Given the description of an element on the screen output the (x, y) to click on. 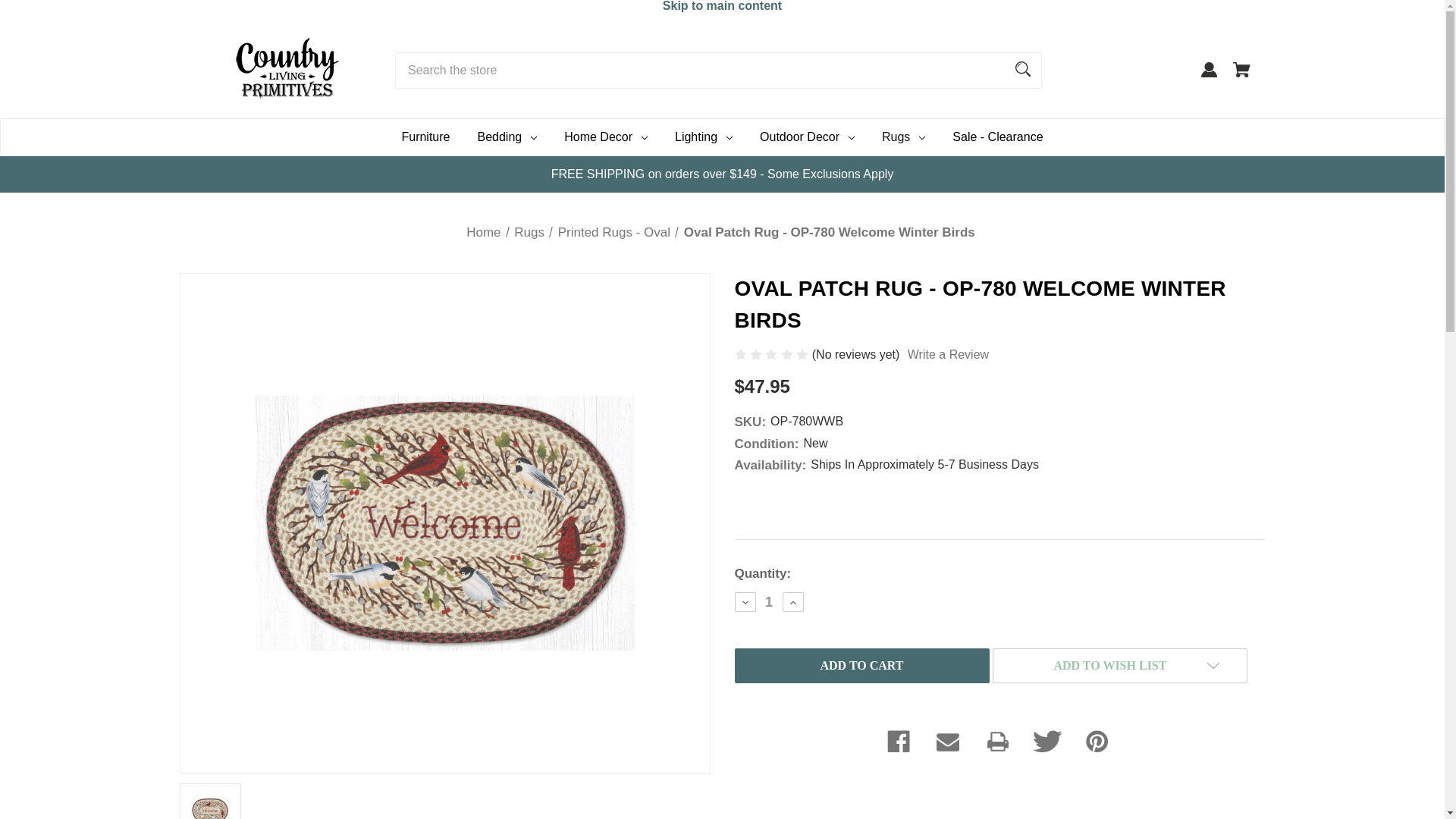
Magnifying glass image Large red circle with a black border (1022, 68)
OP-780 Welcome Winter Birds Rug (443, 522)
Magnifying glass image Large red circle with a black border (1023, 68)
Bedding (506, 136)
PayPal Message 1 (940, 502)
Home Decor (605, 136)
1 (768, 601)
Product rating is 0 of 5 (771, 353)
OP-780 Welcome Winter Birds Rug (209, 802)
Furniture (425, 136)
Add to Cart (860, 665)
CountryLivingPrimitives.com (286, 67)
Skip to main content (721, 9)
